Given the description of an element on the screen output the (x, y) to click on. 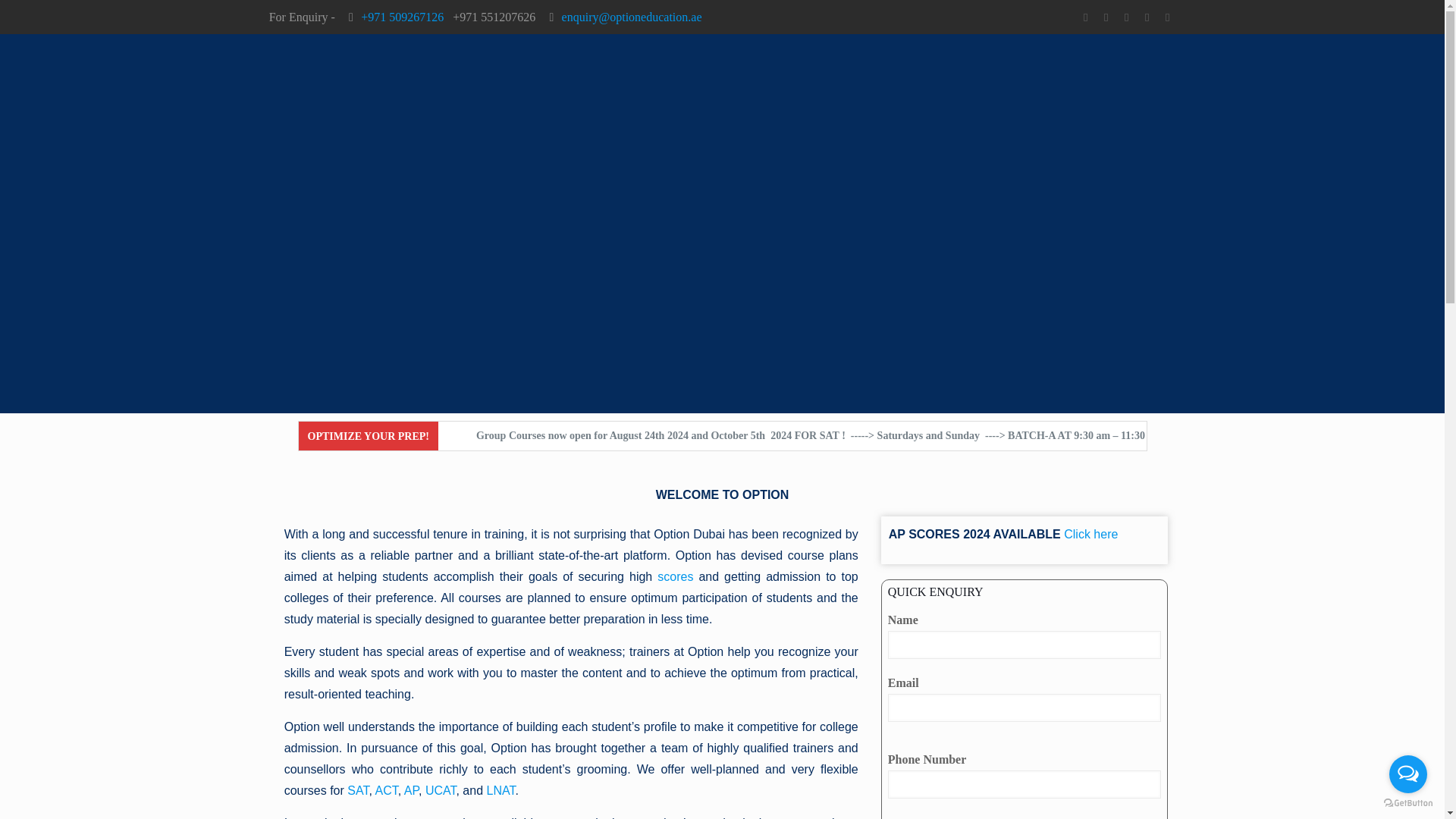
Click here (1091, 533)
UCAT (441, 789)
YouTube (1146, 17)
ACT (385, 789)
Twitter (1126, 17)
scores (675, 576)
Facebook (1085, 17)
LinkedIn (1166, 17)
LNAT (500, 789)
AP (411, 789)
